Given the description of an element on the screen output the (x, y) to click on. 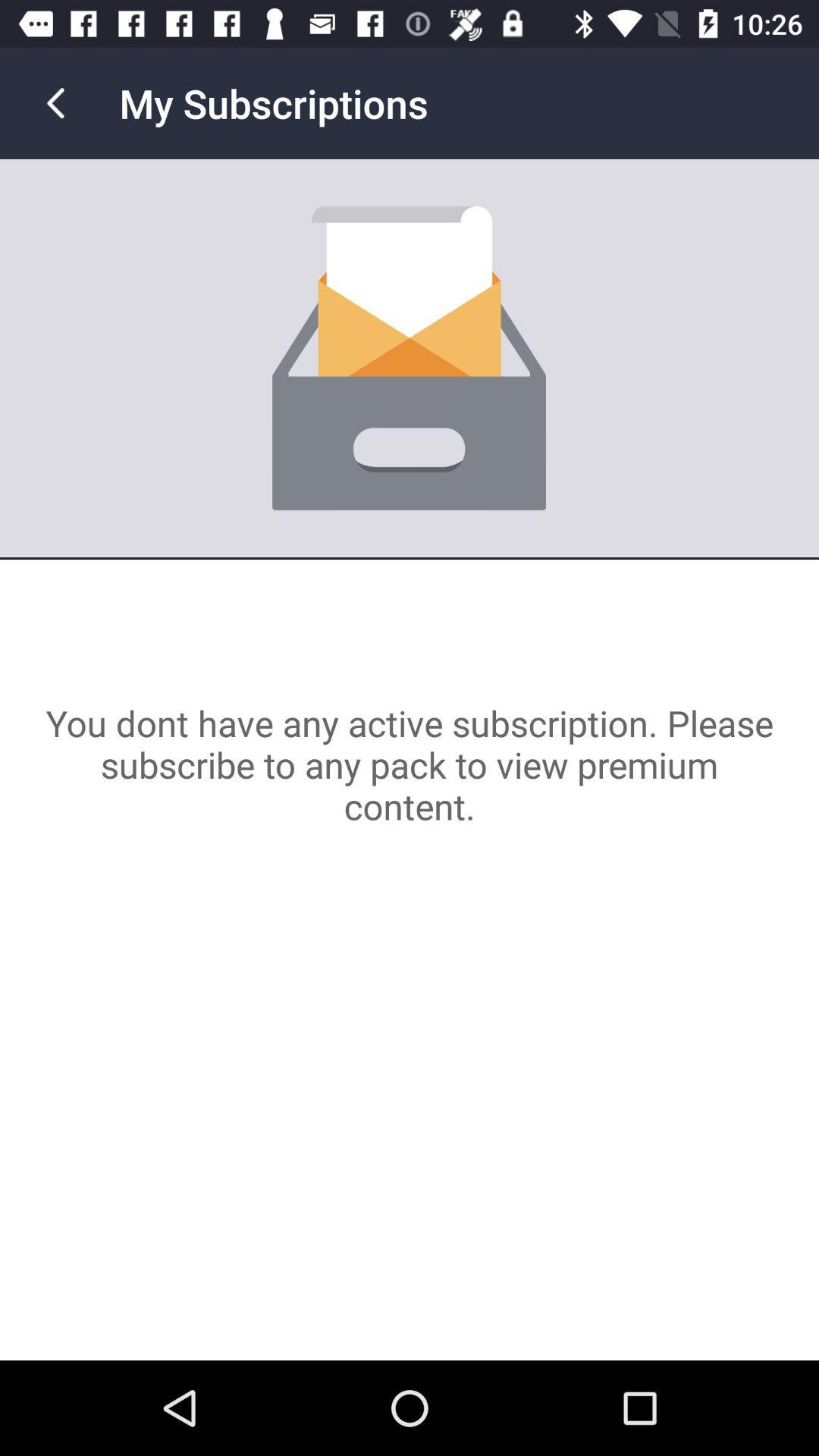
back page arrow (55, 103)
